Given the description of an element on the screen output the (x, y) to click on. 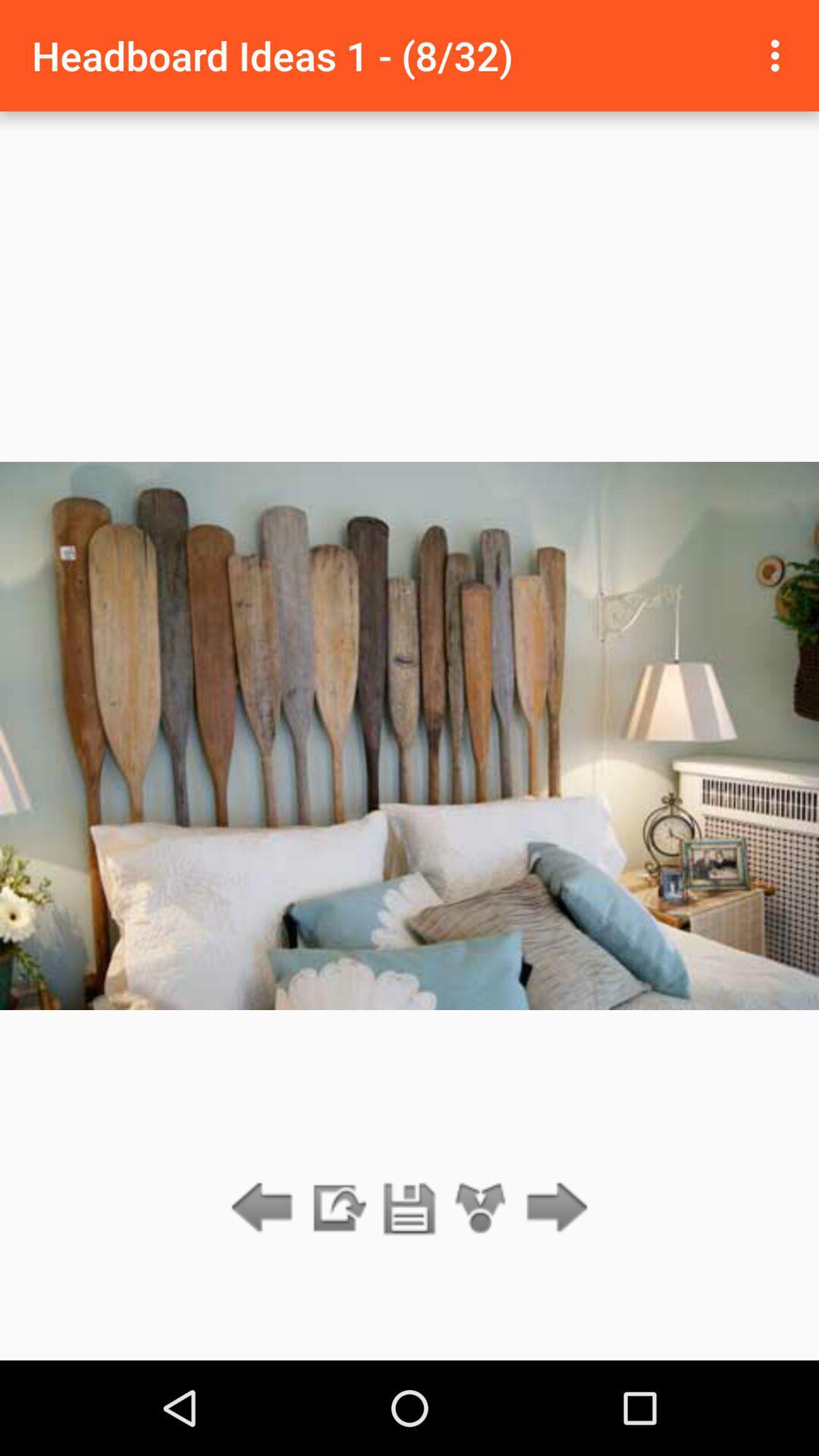
share photo (480, 1208)
